Given the description of an element on the screen output the (x, y) to click on. 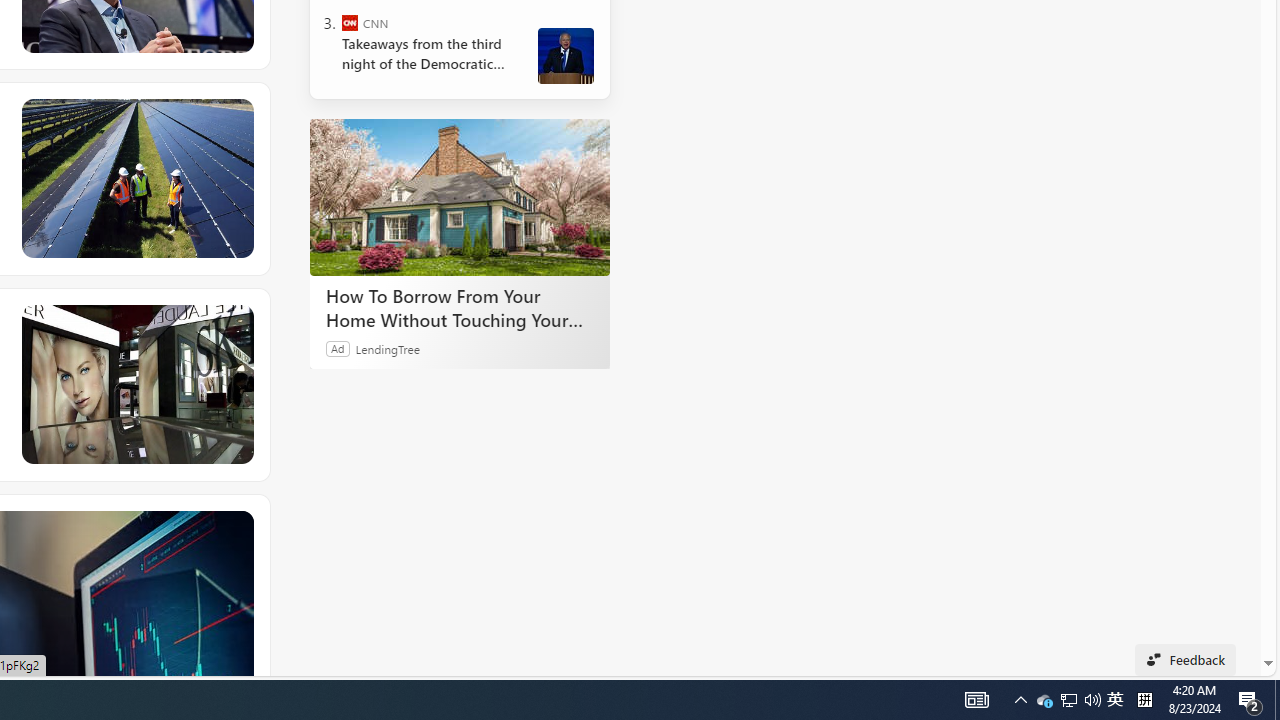
How To Borrow From Your Home Without Touching Your Mortgage (459, 196)
LendingTree (387, 348)
Ad (338, 348)
Feedback (1185, 659)
See more (239, 525)
How To Borrow From Your Home Without Touching Your Mortgage (459, 307)
CNN (349, 22)
